Given the description of an element on the screen output the (x, y) to click on. 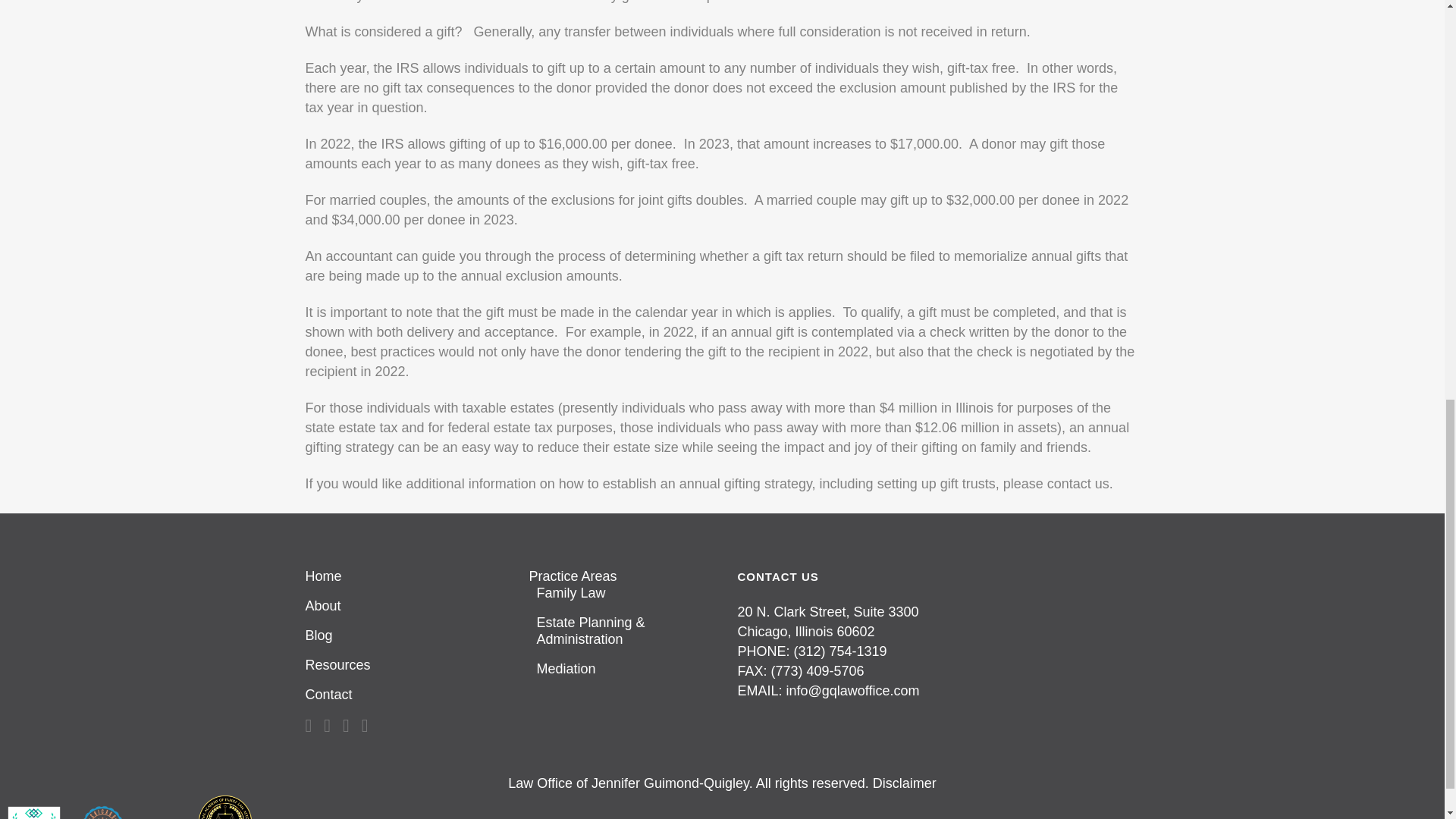
About (403, 605)
Contact (403, 694)
Home (403, 576)
Blog (403, 635)
Resources (403, 664)
